Given the description of an element on the screen output the (x, y) to click on. 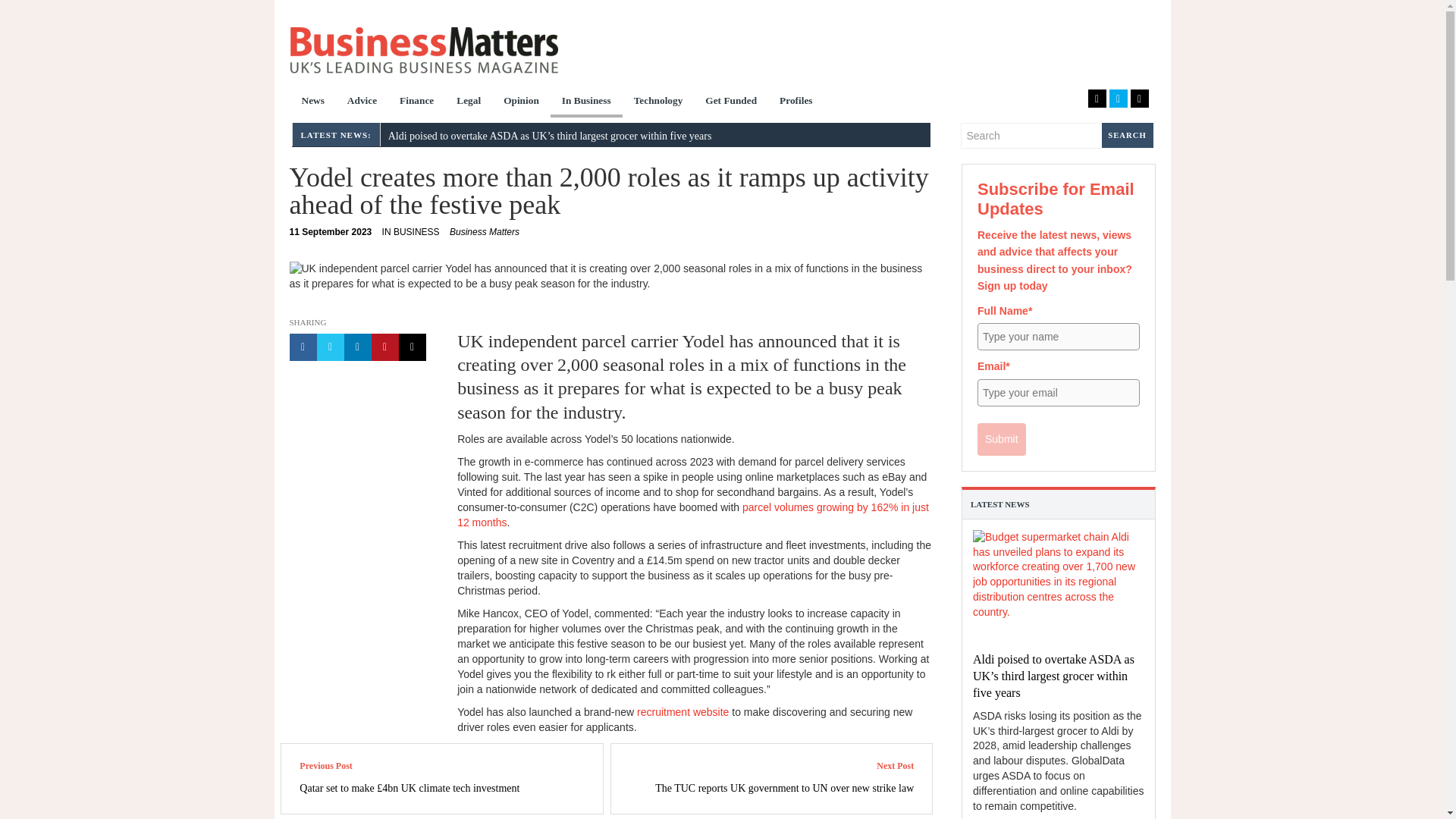
Get Funded (731, 101)
Legal (468, 101)
Finance (416, 101)
News (311, 101)
recruitment website (683, 711)
IN BUSINESS (410, 231)
Advice (362, 101)
Business Matters (484, 231)
The TUC reports UK government to UN over new strike law (784, 787)
Business Matters (423, 50)
